Given the description of an element on the screen output the (x, y) to click on. 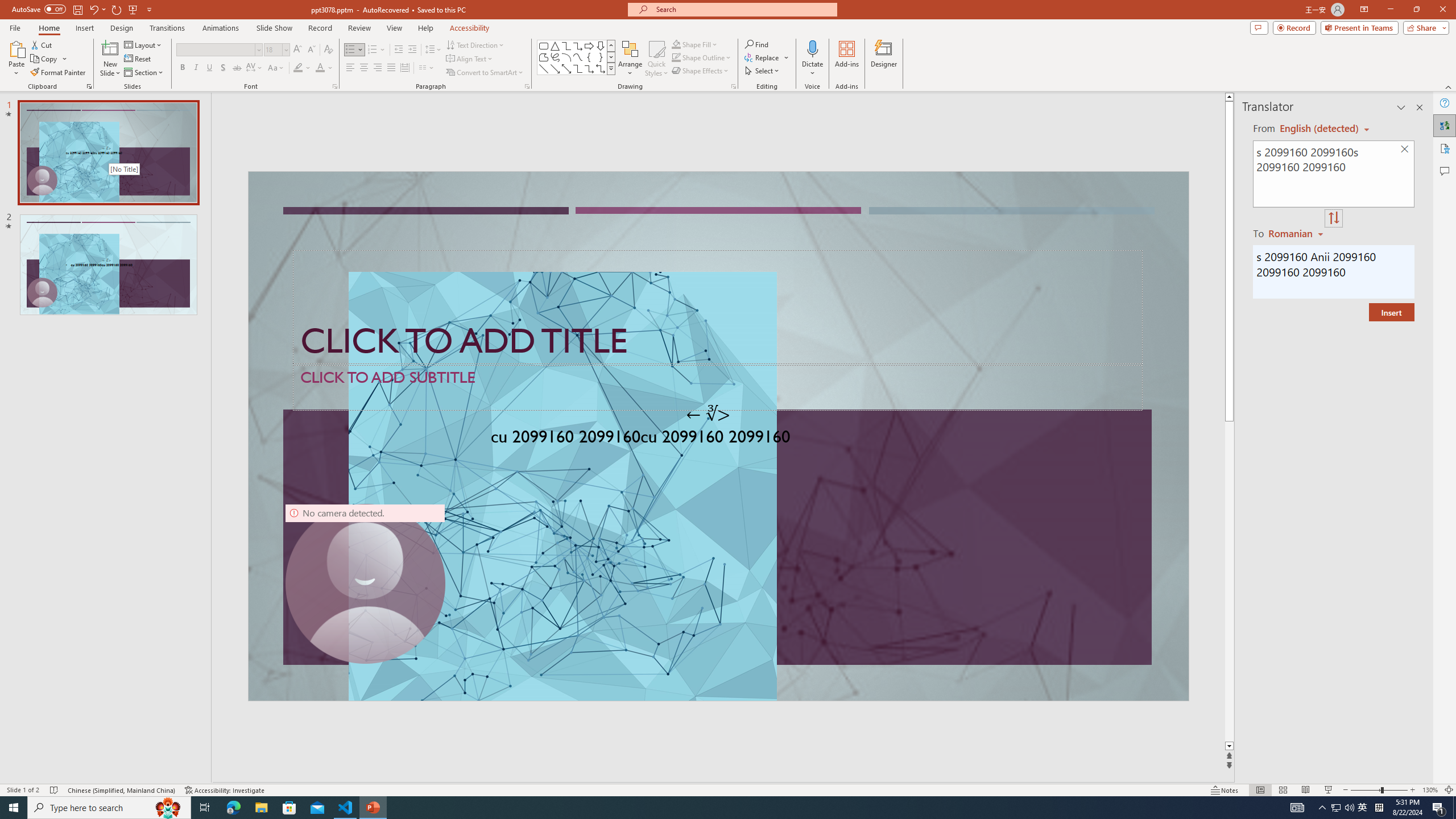
An abstract genetic concept (718, 436)
